Given the description of an element on the screen output the (x, y) to click on. 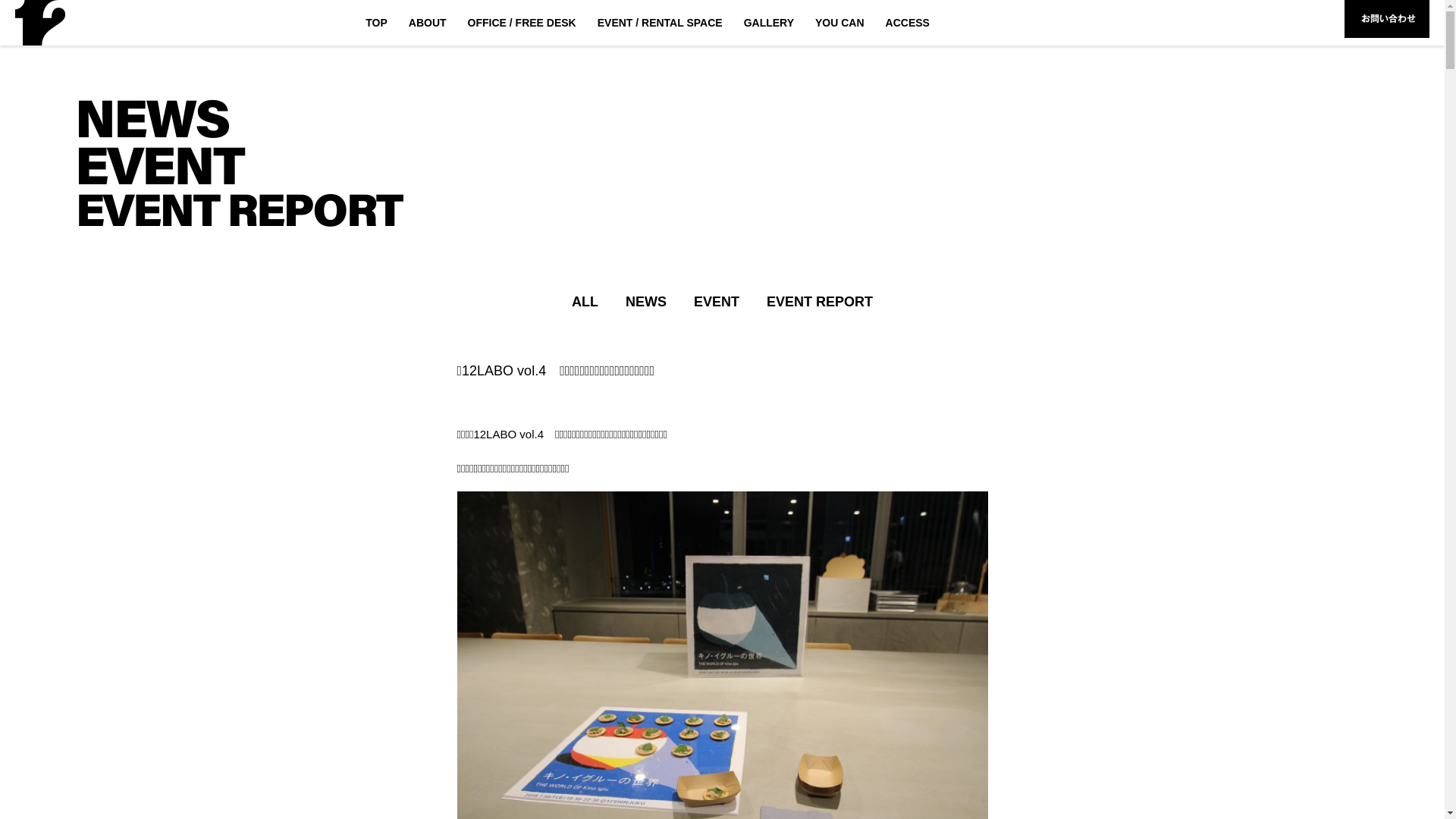
ACCESS Element type: text (907, 22)
EVENT Element type: text (716, 302)
EVENT / RENTAL SPACE Element type: text (660, 22)
GALLERY Element type: text (768, 22)
ALL Element type: text (584, 302)
EVENT REPORT Element type: text (819, 302)
TOP Element type: text (376, 22)
OFFICE / FREE DESK Element type: text (521, 22)
YOU CAN Element type: text (839, 22)
NEWS Element type: text (645, 302)
ABOUT Element type: text (427, 22)
